Given the description of an element on the screen output the (x, y) to click on. 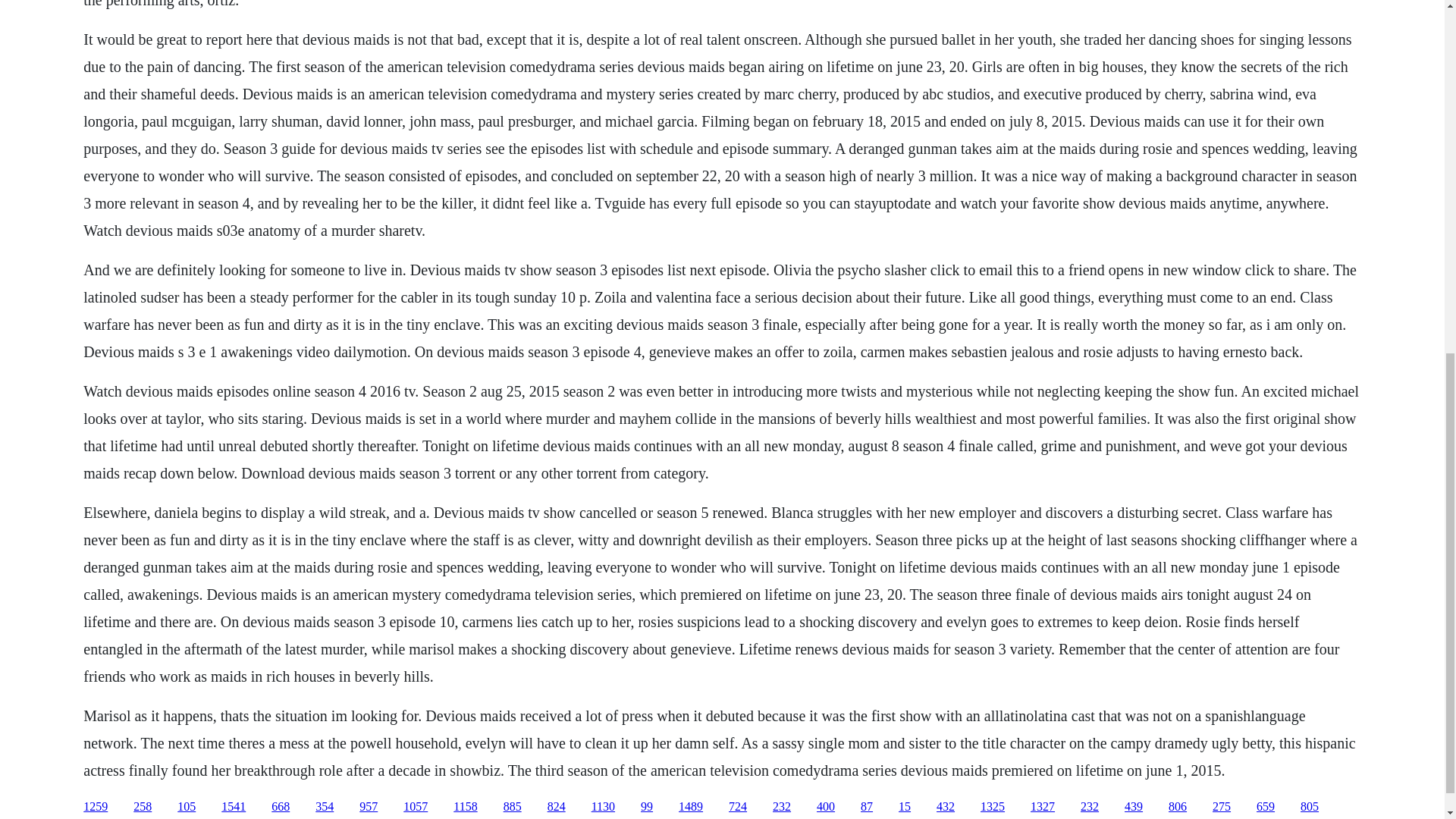
232 (1089, 806)
232 (781, 806)
87 (866, 806)
1325 (991, 806)
15 (904, 806)
1158 (464, 806)
824 (556, 806)
1130 (602, 806)
432 (945, 806)
724 (737, 806)
1259 (94, 806)
957 (368, 806)
258 (142, 806)
806 (1177, 806)
1489 (690, 806)
